Given the description of an element on the screen output the (x, y) to click on. 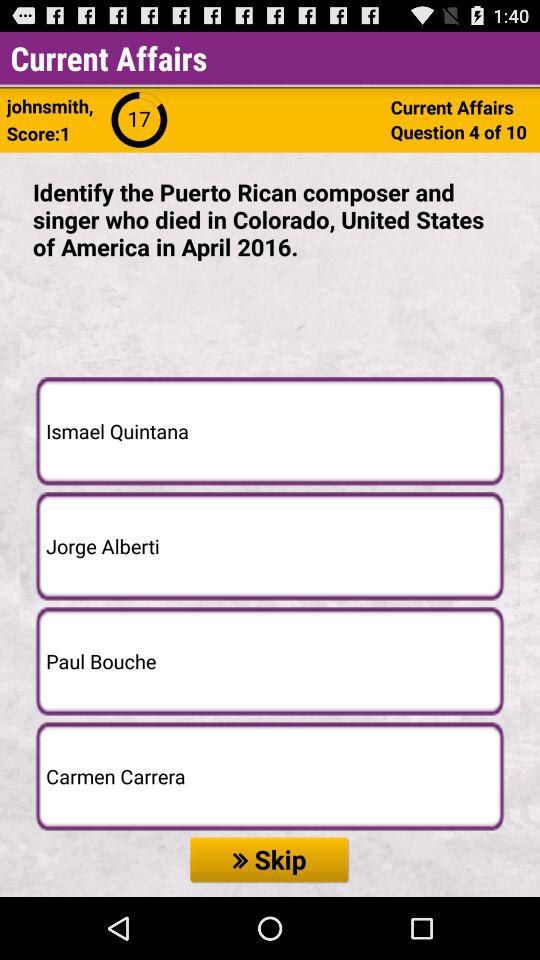
press the item below the ismael quintana icon (270, 545)
